Given the description of an element on the screen output the (x, y) to click on. 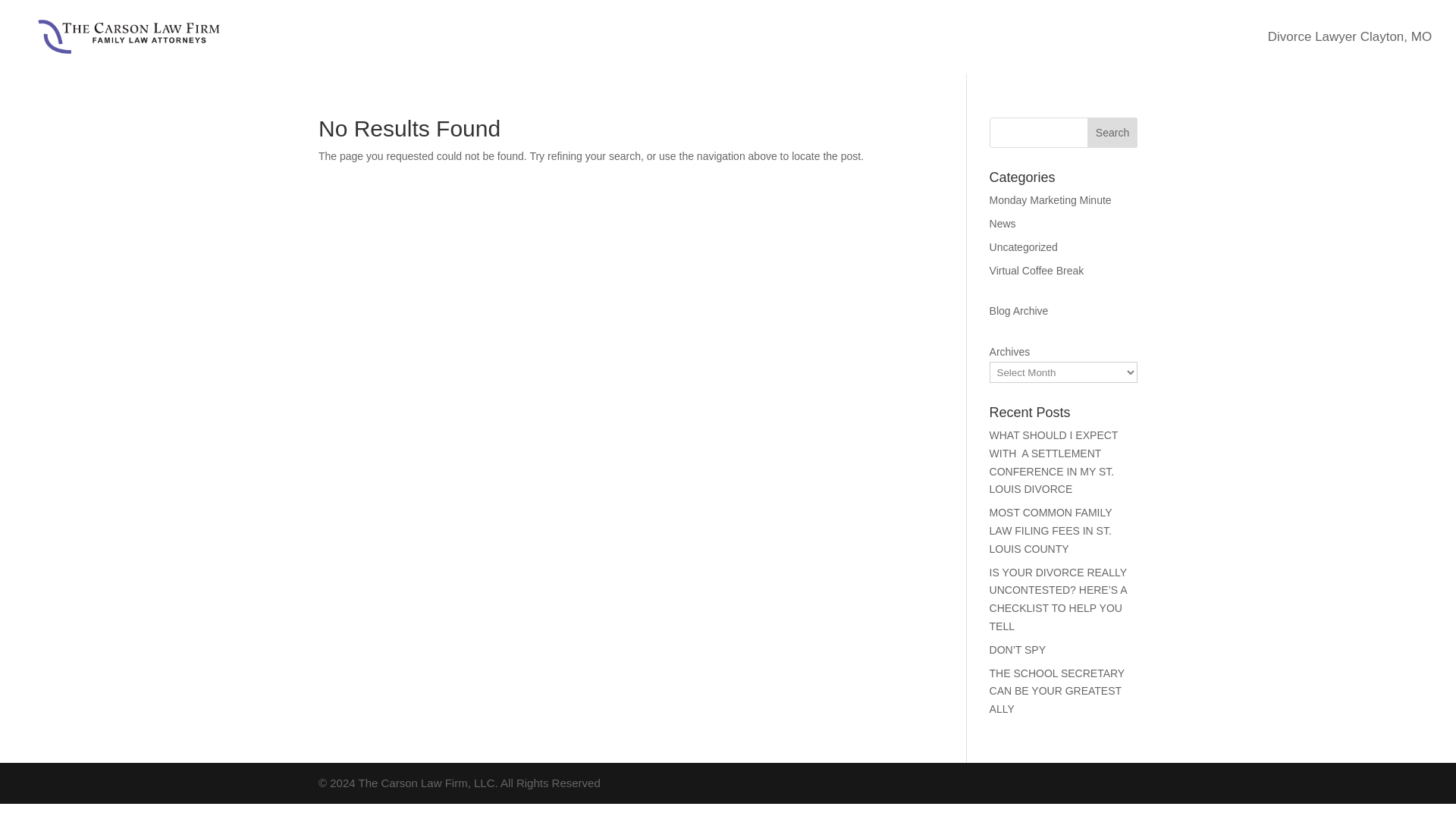
Monday Marketing Minute (1051, 200)
Uncategorized (1024, 246)
News (1003, 223)
Search (1112, 132)
Virtual Coffee Break (1037, 270)
Divorce Lawyer Clayton, MO (1349, 36)
MOST COMMON FAMILY LAW FILING FEES IN ST. LOUIS COUNTY  (1051, 530)
Search (1112, 132)
THE SCHOOL SECRETARY CAN BE YOUR GREATEST ALLY (1057, 691)
